Given the description of an element on the screen output the (x, y) to click on. 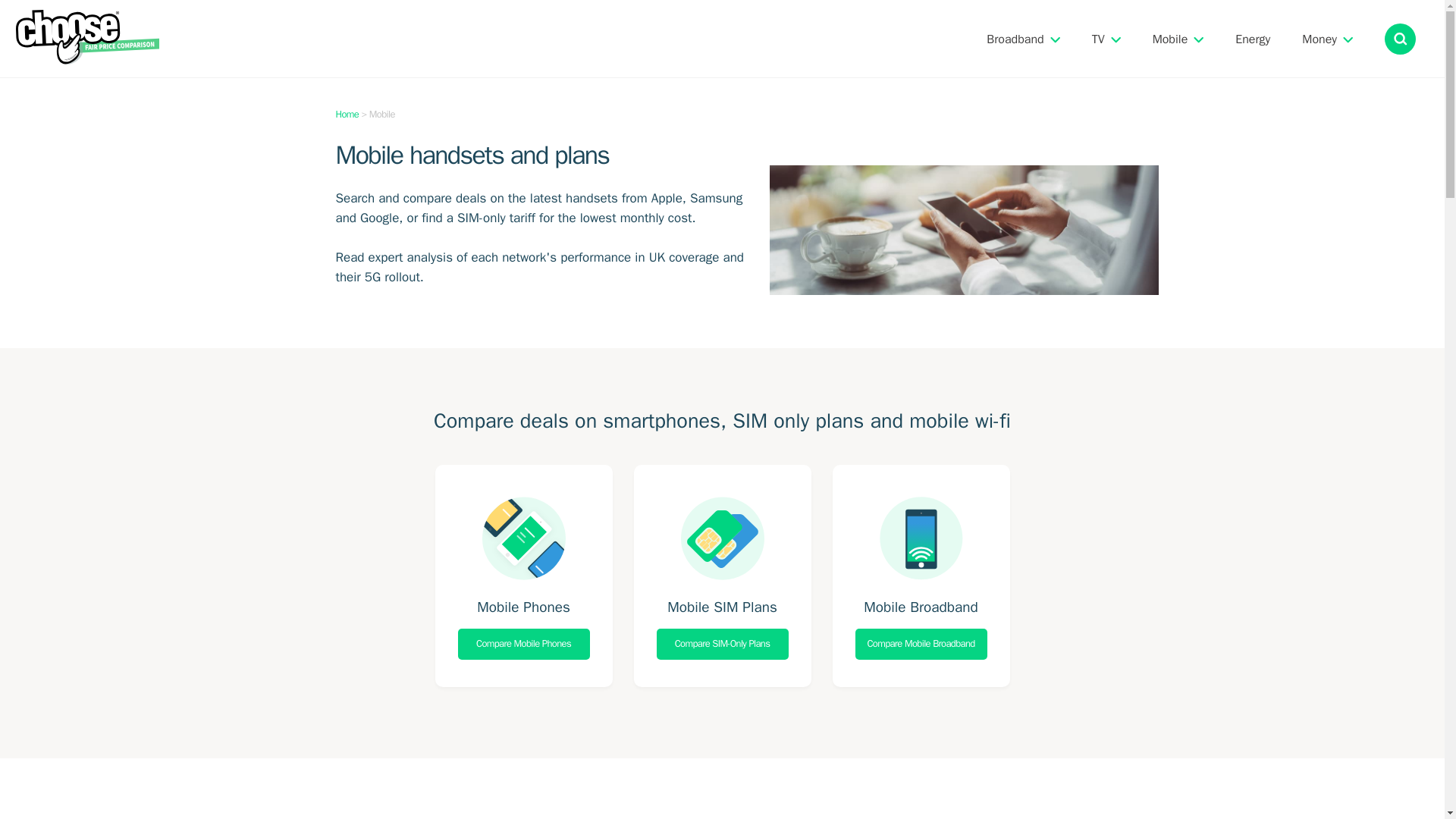
Money (1318, 38)
Mobile Broadband (920, 607)
Mobile (1170, 38)
Mobile SIM Plans (721, 607)
Compare Mobile Phones (523, 643)
Mobile Phones (523, 607)
Home (346, 113)
Compare Mobile Broadband (921, 643)
Compare SIM-Only Plans (722, 643)
Energy (1251, 38)
Broadband (1015, 38)
